Given the description of an element on the screen output the (x, y) to click on. 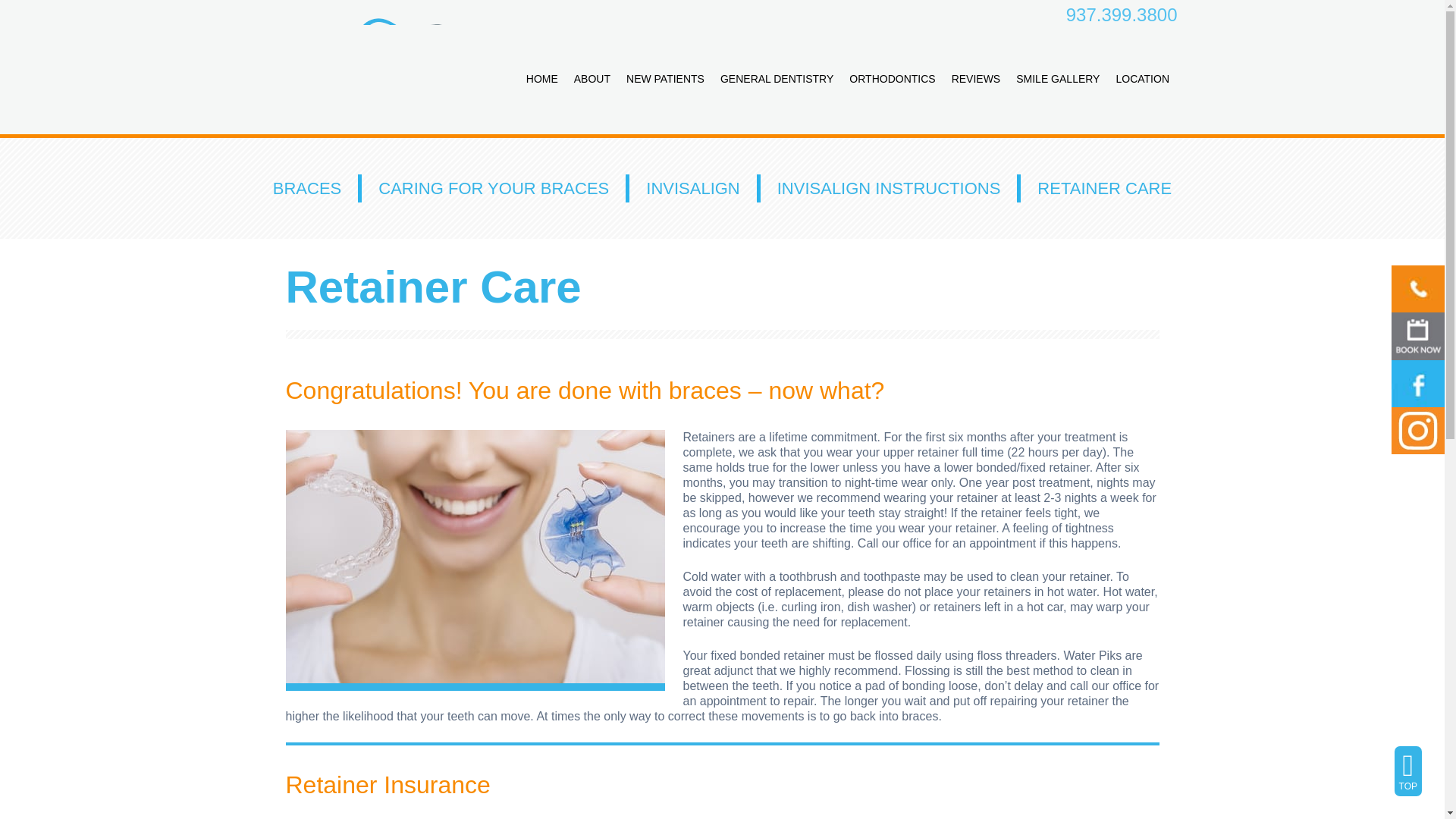
SMILE GALLERY (1058, 78)
INVISALIGN (691, 188)
NEW PATIENTS (665, 78)
GENERAL DENTISTRY (776, 78)
ORTHODONTICS (892, 78)
937.399.3800 (1121, 14)
ABOUT (591, 78)
HOME (542, 78)
RETAINER CARE (1104, 188)
REVIEWS (976, 78)
CARING FOR YOUR BRACES (493, 188)
INVISALIGN INSTRUCTIONS (888, 188)
LOCATION (1142, 78)
BRACES (307, 188)
